Given the description of an element on the screen output the (x, y) to click on. 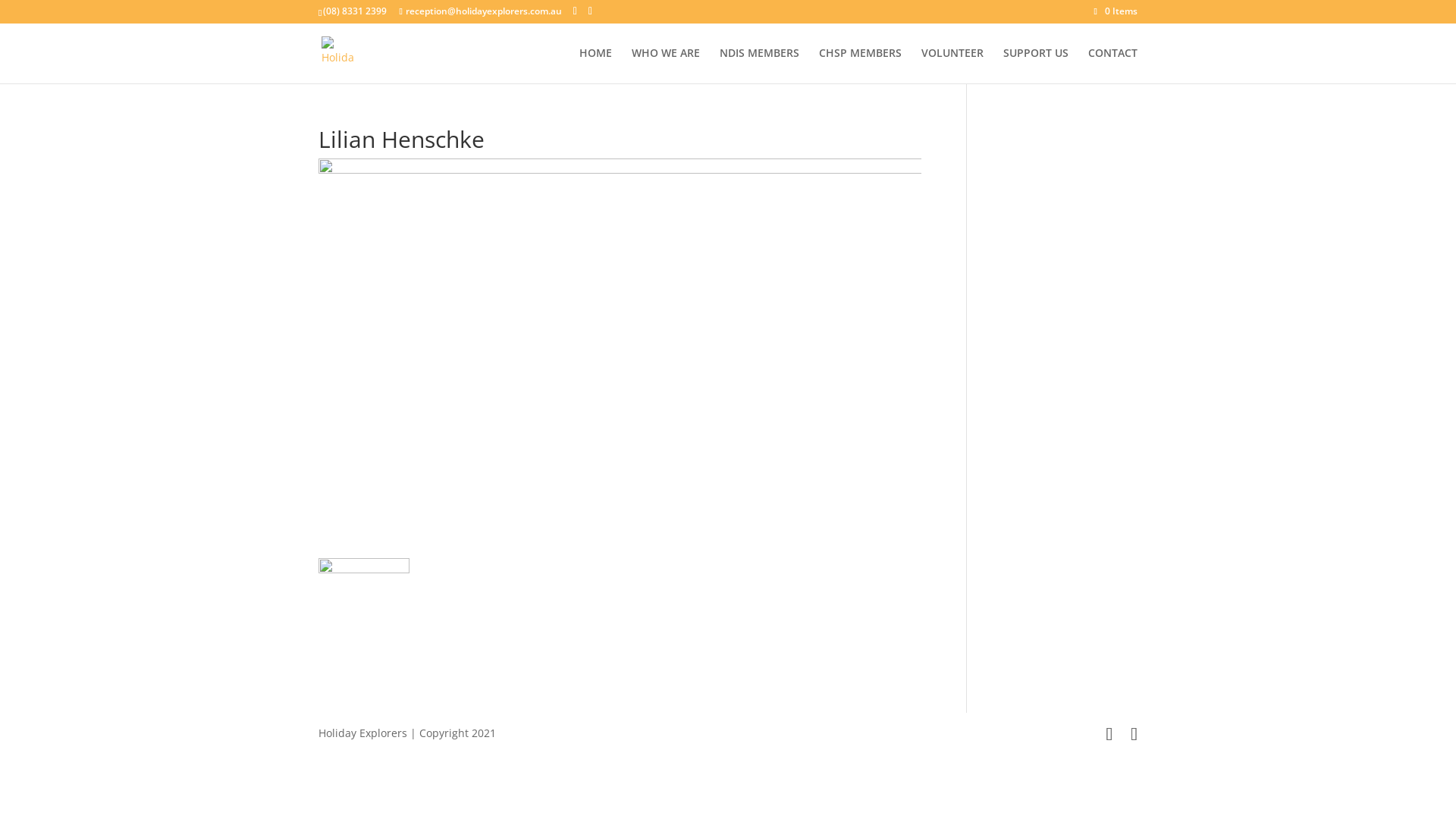
HOME Element type: text (595, 65)
0 Items Element type: text (1115, 10)
CHSP MEMBERS Element type: text (860, 65)
NDIS MEMBERS Element type: text (759, 65)
reception@holidayexplorers.com.au Element type: text (479, 10)
SUPPORT US Element type: text (1035, 65)
VOLUNTEER Element type: text (952, 65)
WHO WE ARE Element type: text (665, 65)
CONTACT Element type: text (1112, 65)
